Given the description of an element on the screen output the (x, y) to click on. 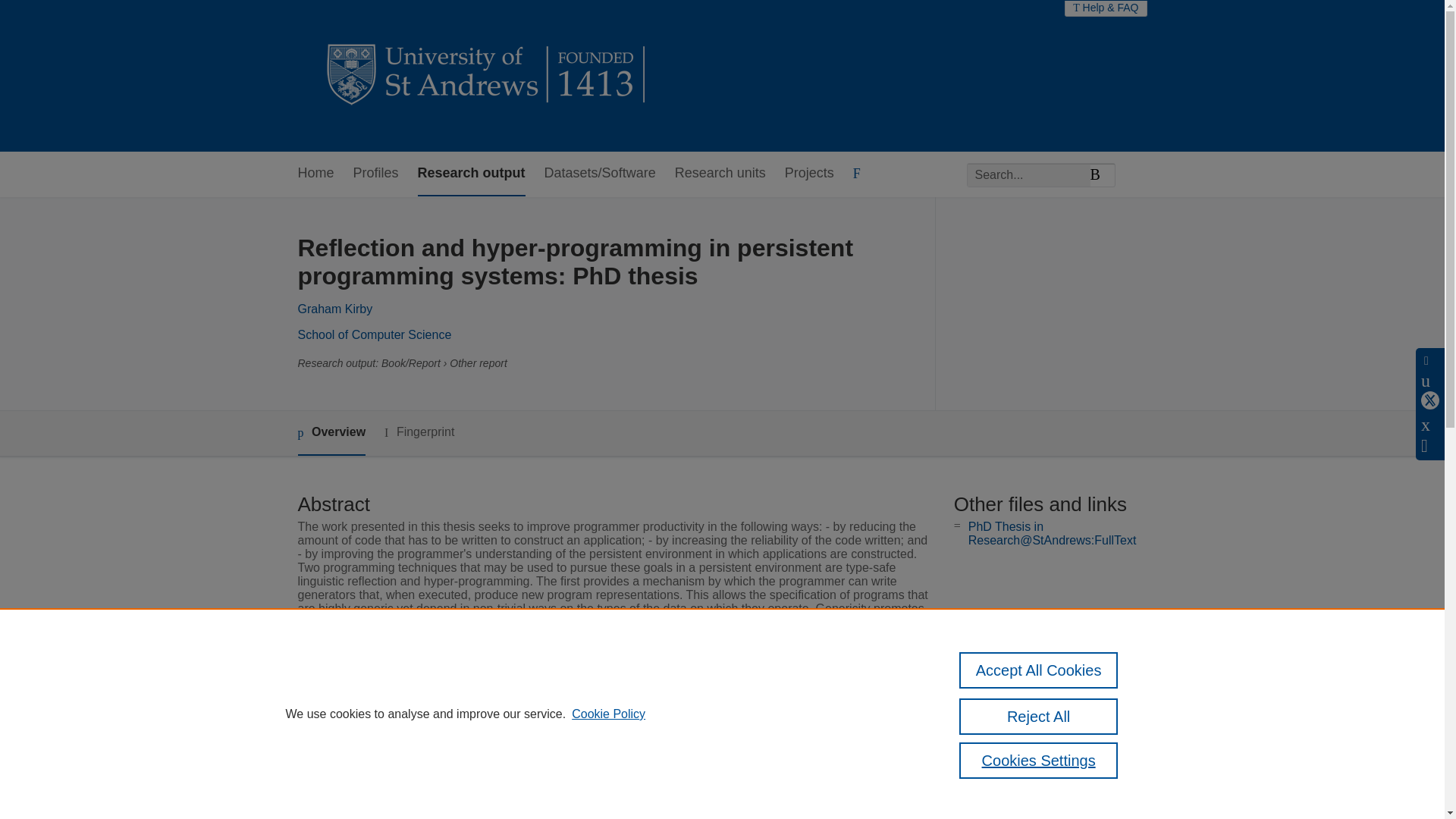
Profiles (375, 173)
University of St Andrews Research Portal Home (487, 75)
Fingerprint (419, 432)
Research output (471, 173)
Projects (809, 173)
Research units (720, 173)
Overview (331, 433)
School of Computer Science (374, 334)
Graham Kirby (334, 308)
